Given the description of an element on the screen output the (x, y) to click on. 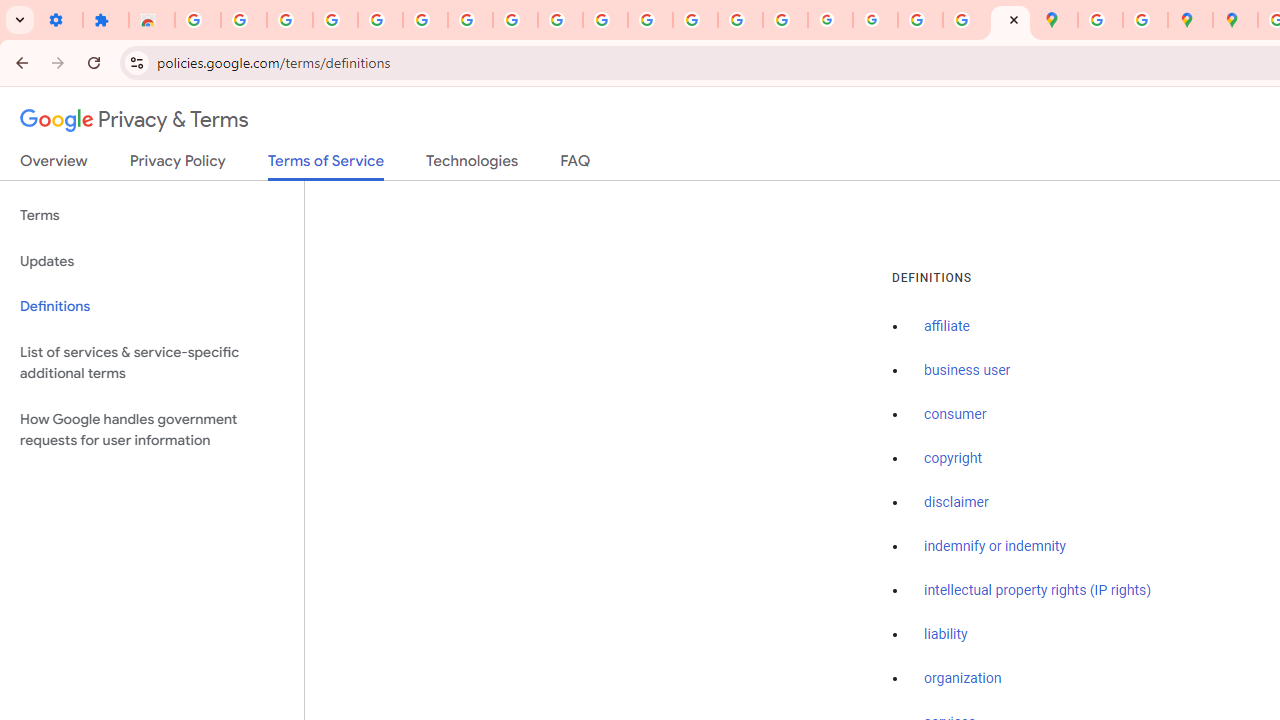
Safety in Our Products - Google Safety Center (1145, 20)
Sign in - Google Accounts (425, 20)
indemnify or indemnity (995, 546)
affiliate (947, 327)
Learn how to find your photos - Google Photos Help (335, 20)
Updates (152, 261)
Google Maps (1055, 20)
Google Account (514, 20)
